Given the description of an element on the screen output the (x, y) to click on. 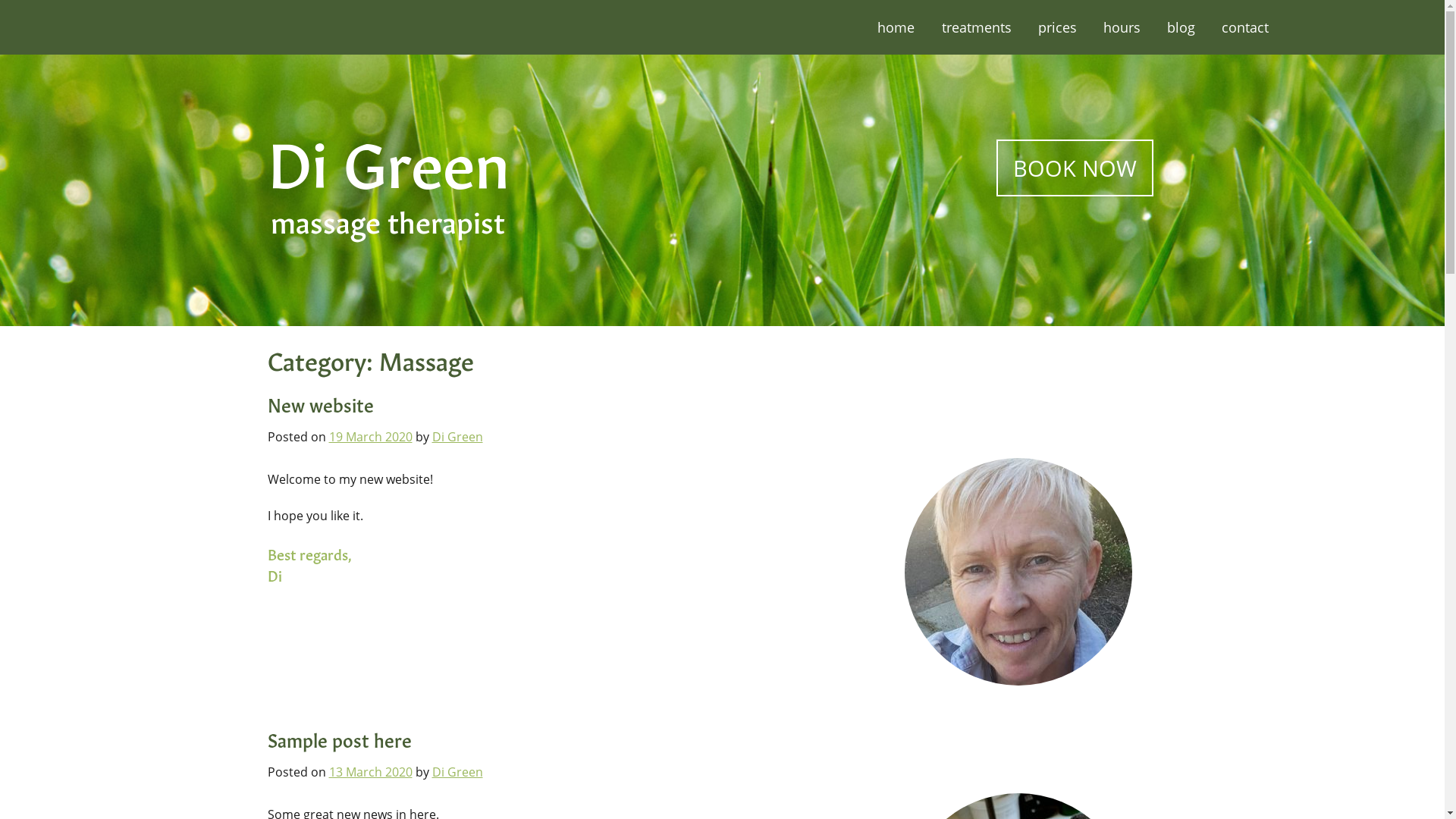
Di Green Element type: text (457, 771)
treatments Element type: text (976, 27)
New website Element type: text (319, 403)
blog Element type: text (1181, 27)
contact Element type: text (1245, 27)
hours Element type: text (1121, 27)
Sample post here Element type: text (338, 738)
13 March 2020 Element type: text (370, 771)
BOOK NOW Element type: text (1074, 167)
Di Green Element type: text (457, 436)
prices Element type: text (1056, 27)
home Element type: text (896, 27)
19 March 2020 Element type: text (370, 436)
